Given the description of an element on the screen output the (x, y) to click on. 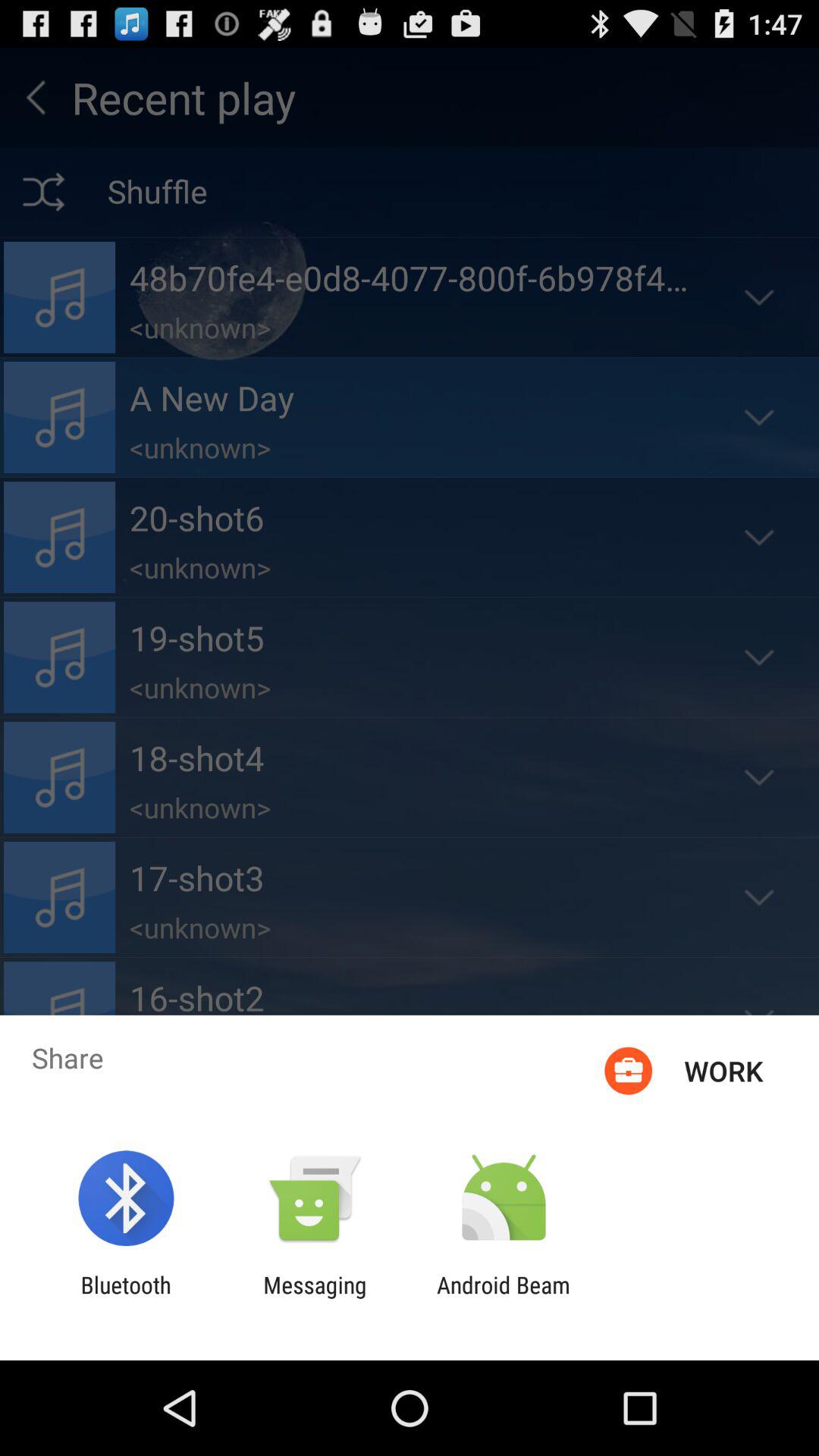
click app next to messaging item (503, 1298)
